Given the description of an element on the screen output the (x, y) to click on. 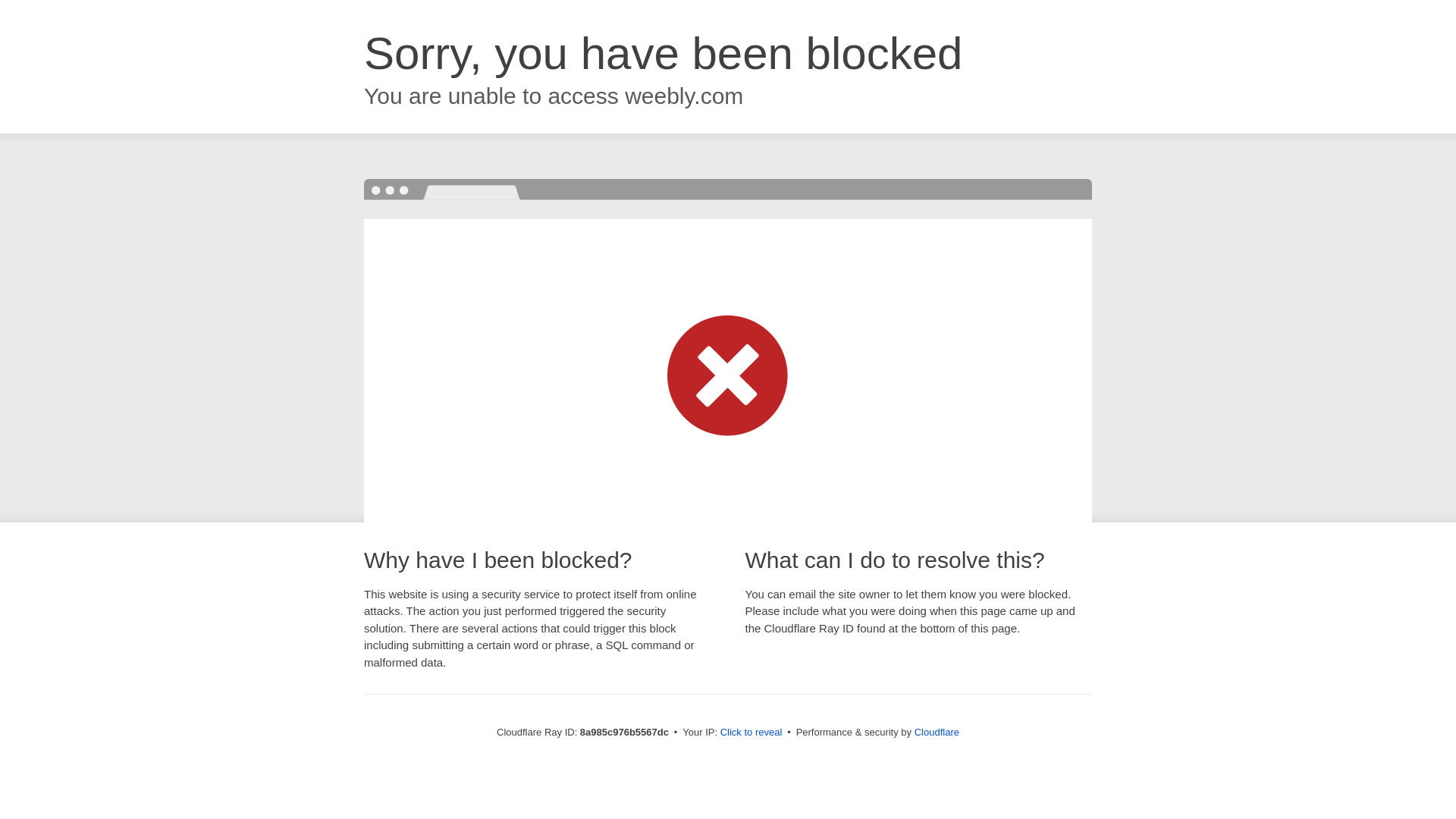
Click to reveal (751, 732)
Cloudflare (936, 731)
